Given the description of an element on the screen output the (x, y) to click on. 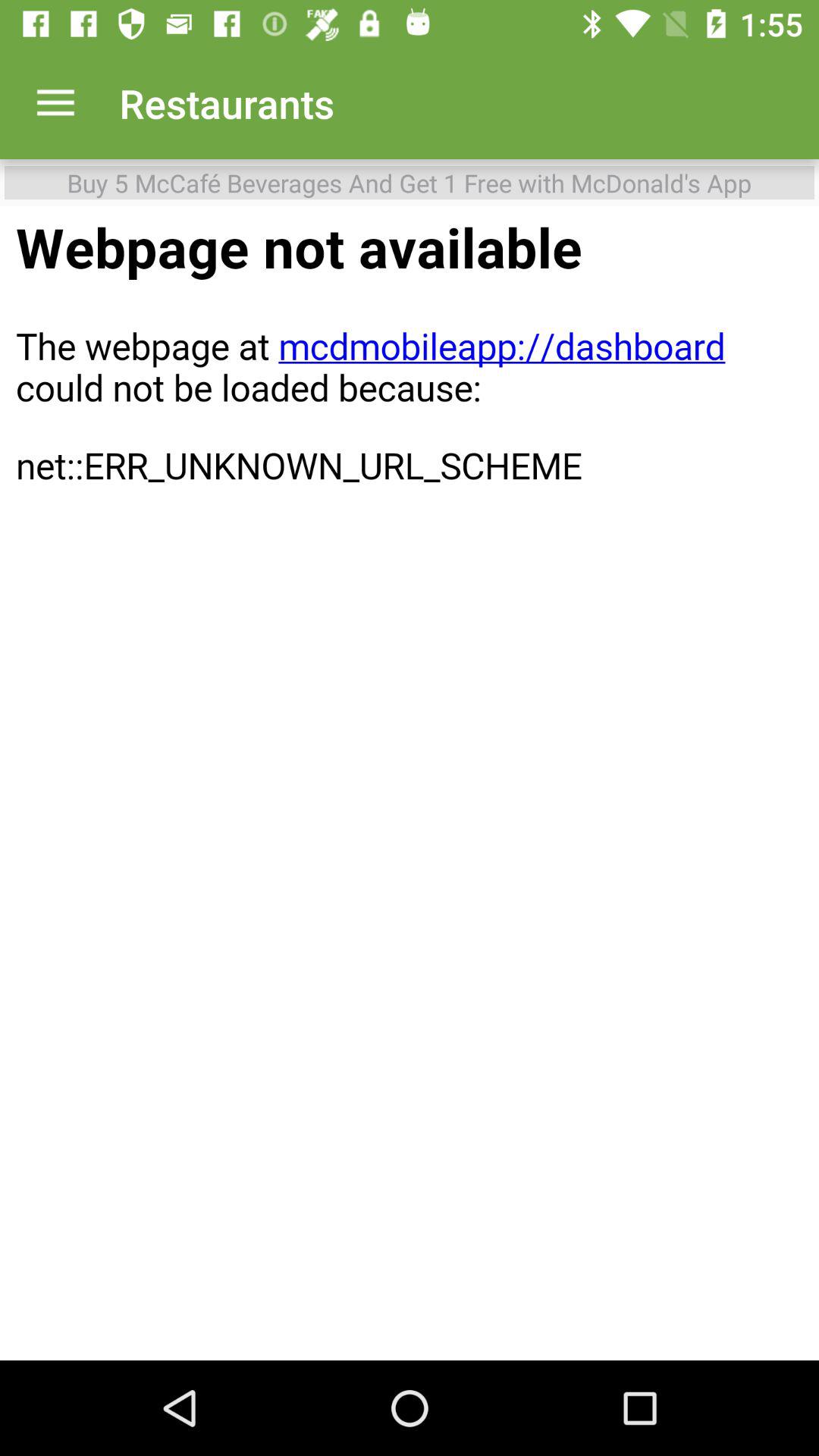
restaurants webpage (409, 783)
